Given the description of an element on the screen output the (x, y) to click on. 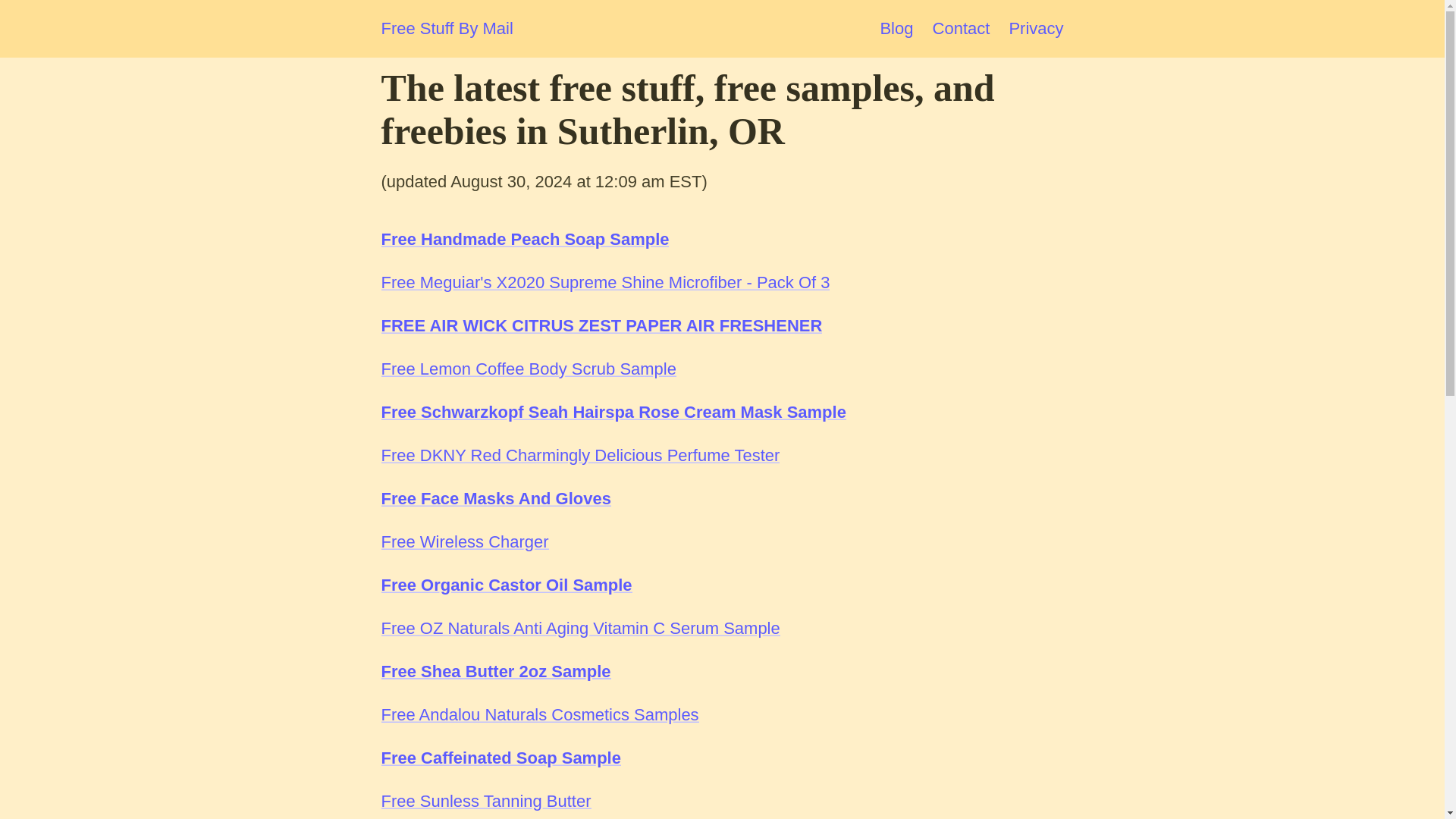
Free Sunless Tanning Butter (485, 800)
Privacy (1035, 27)
Free Face Masks And Gloves (495, 497)
Free Organic Castor Oil Sample (505, 584)
Free Schwarzkopf Seah Hairspa Rose Cream Mask Sample (612, 411)
Free OZ Naturals Anti Aging Vitamin C Serum Sample (579, 628)
FREE AIR WICK CITRUS ZEST PAPER AIR FRESHENER (601, 325)
Free Meguiar's X2020 Supreme Shine Microfiber - Pack Of 3 (604, 281)
Free Wireless Charger (464, 541)
Free Andalou Naturals Cosmetics Samples (539, 714)
